Given the description of an element on the screen output the (x, y) to click on. 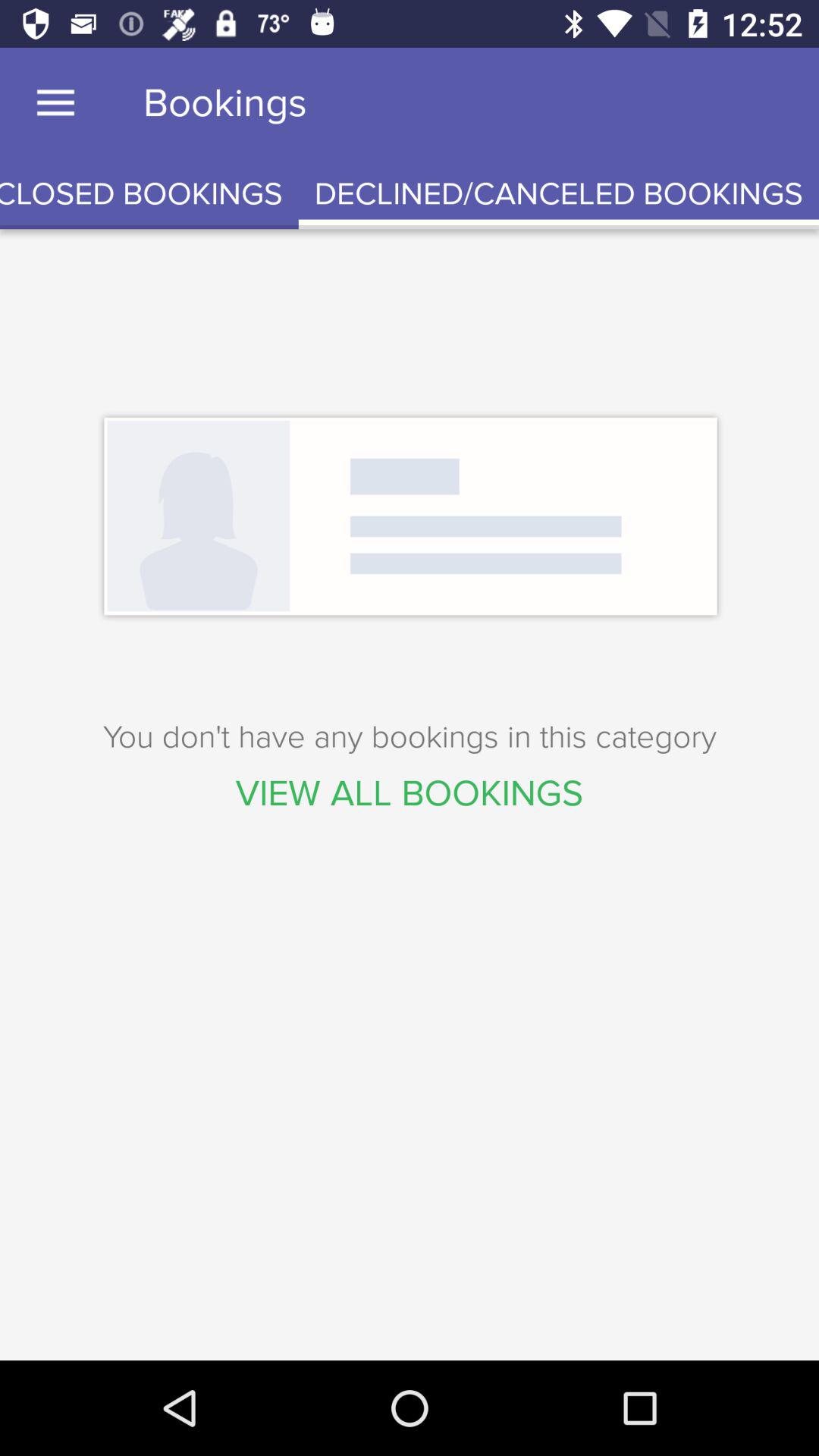
select item to the left of the declined/canceled bookings (149, 194)
